Given the description of an element on the screen output the (x, y) to click on. 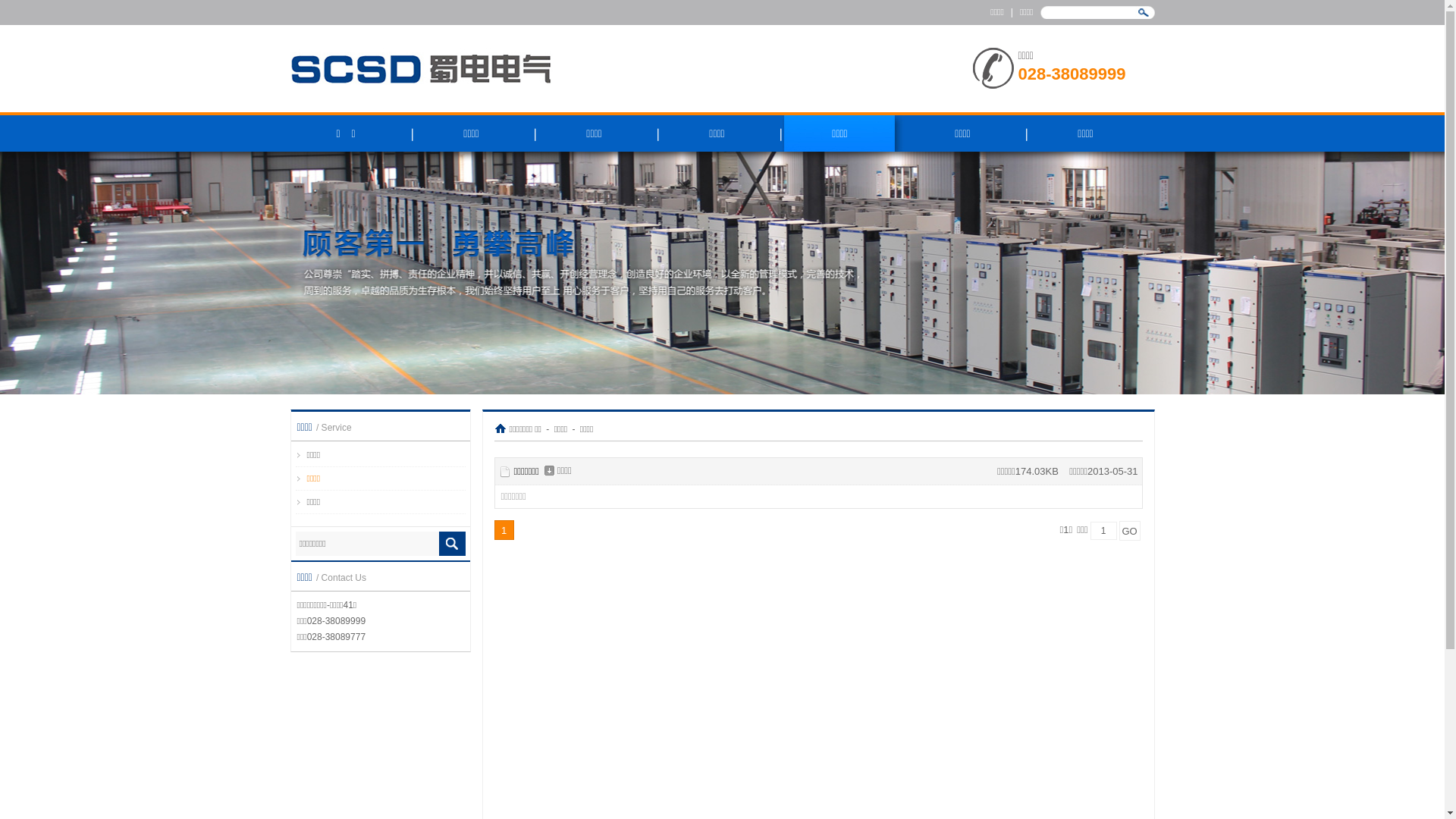
GO Element type: text (1129, 530)
1 Element type: text (504, 529)
